Given the description of an element on the screen output the (x, y) to click on. 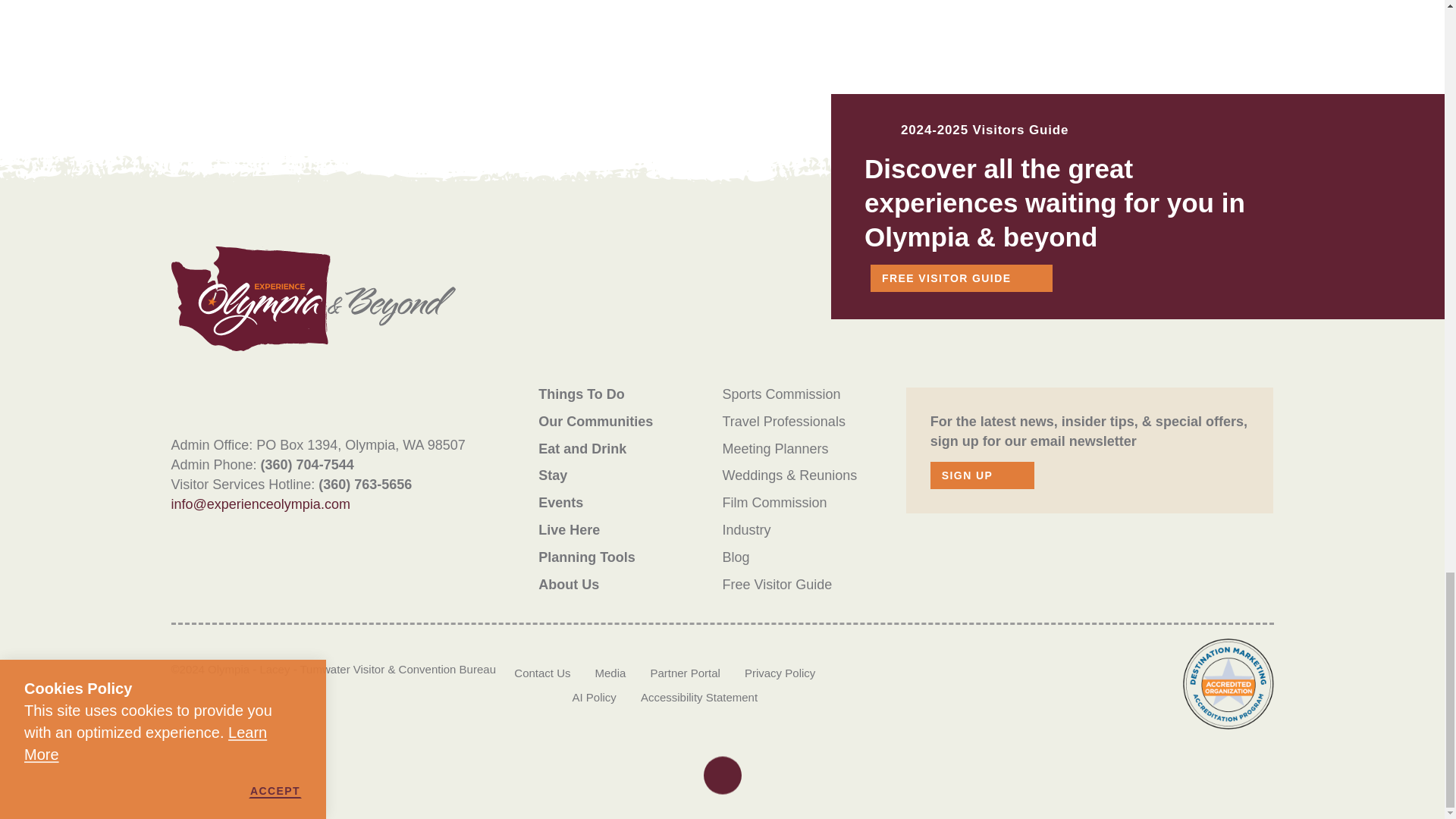
FREE VISITOR GUIDE (961, 277)
Things To Do (581, 394)
